Given the description of an element on the screen output the (x, y) to click on. 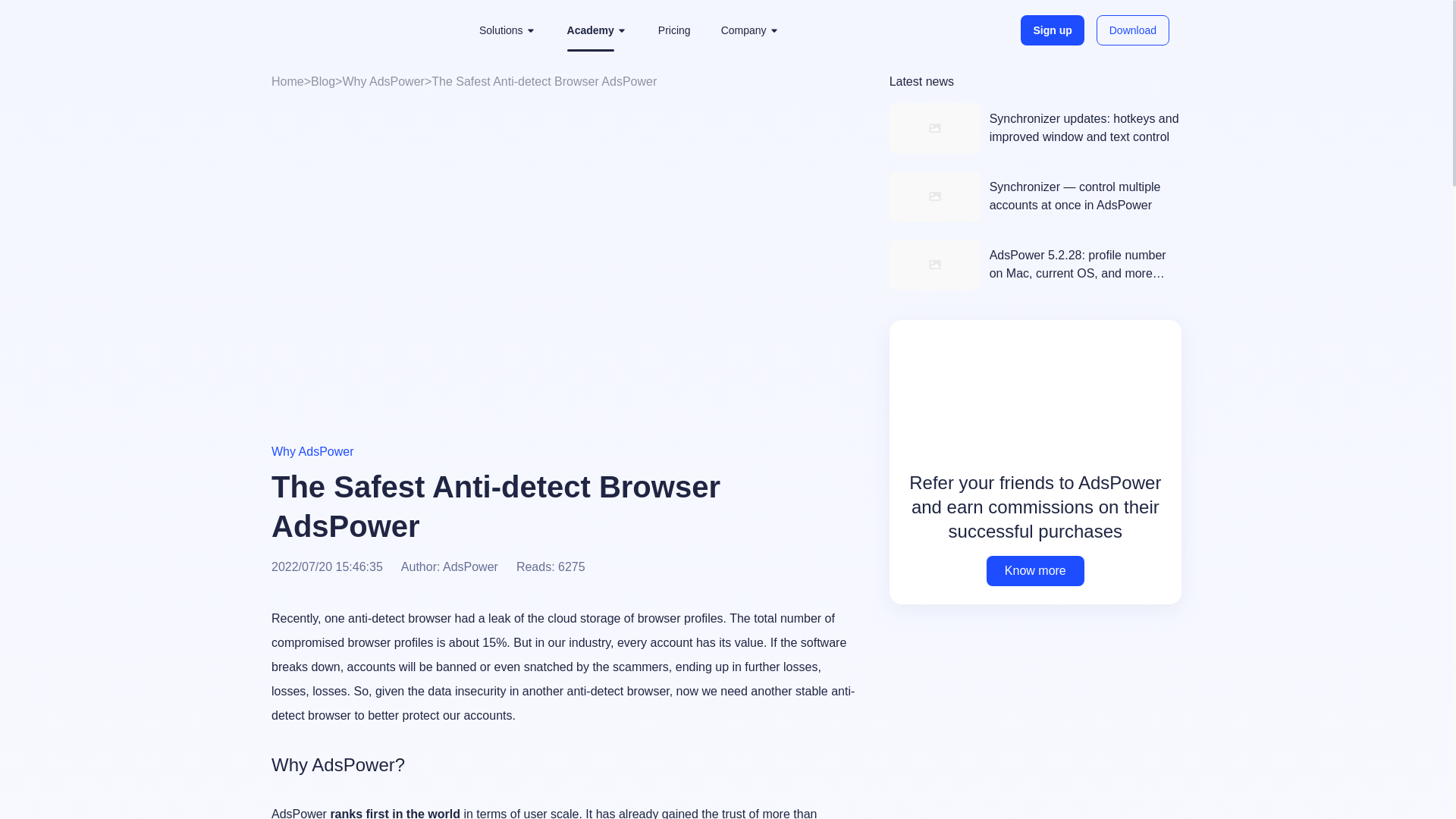
New features in AdsPower 5.2.28 (1034, 264)
Sign up (1051, 30)
Why AdsPower (382, 81)
Download (1132, 30)
Blog (322, 81)
AdsPower (350, 30)
Know more (1035, 571)
